Given the description of an element on the screen output the (x, y) to click on. 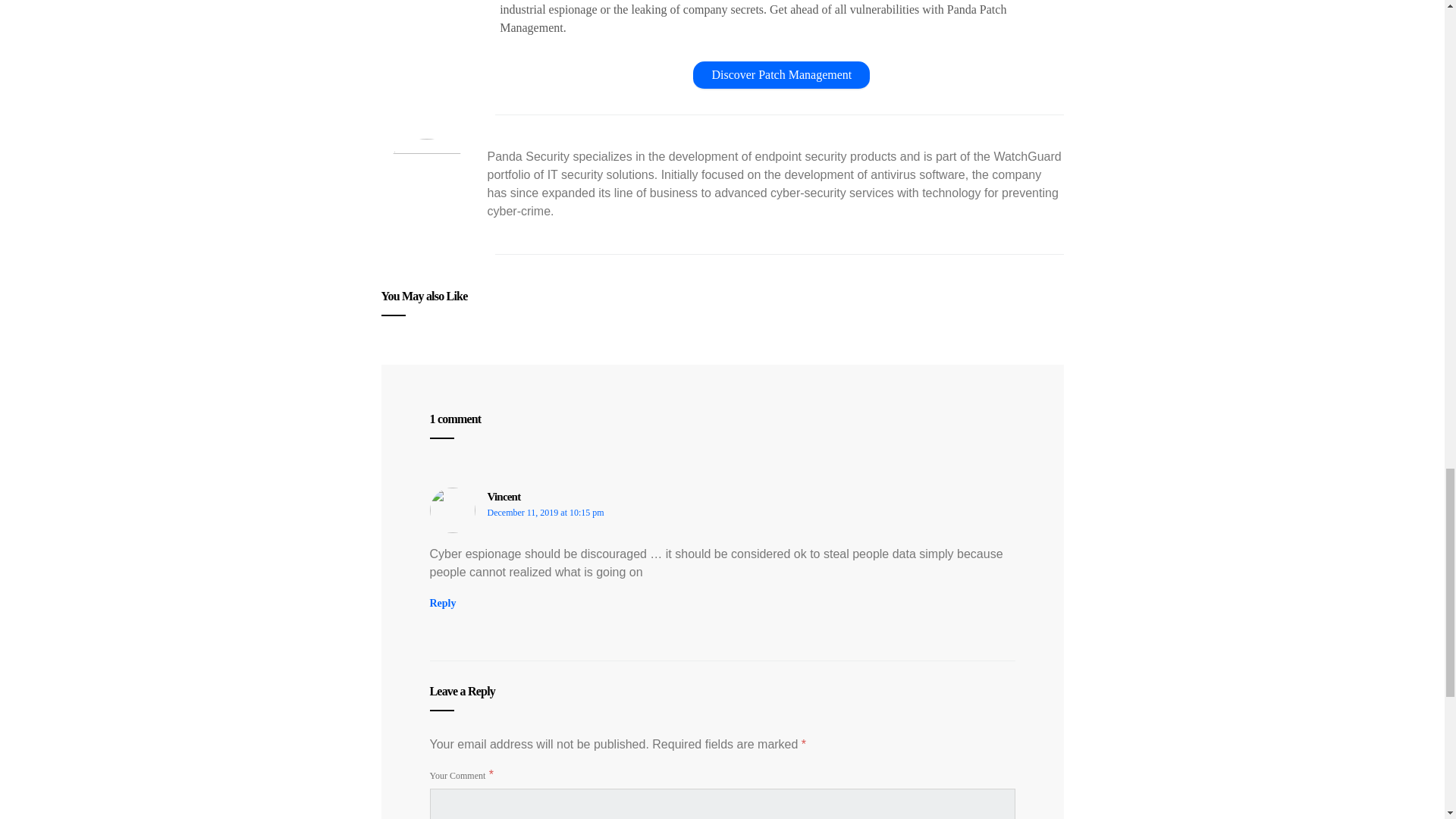
Discover Patch Management (781, 74)
